Given the description of an element on the screen output the (x, y) to click on. 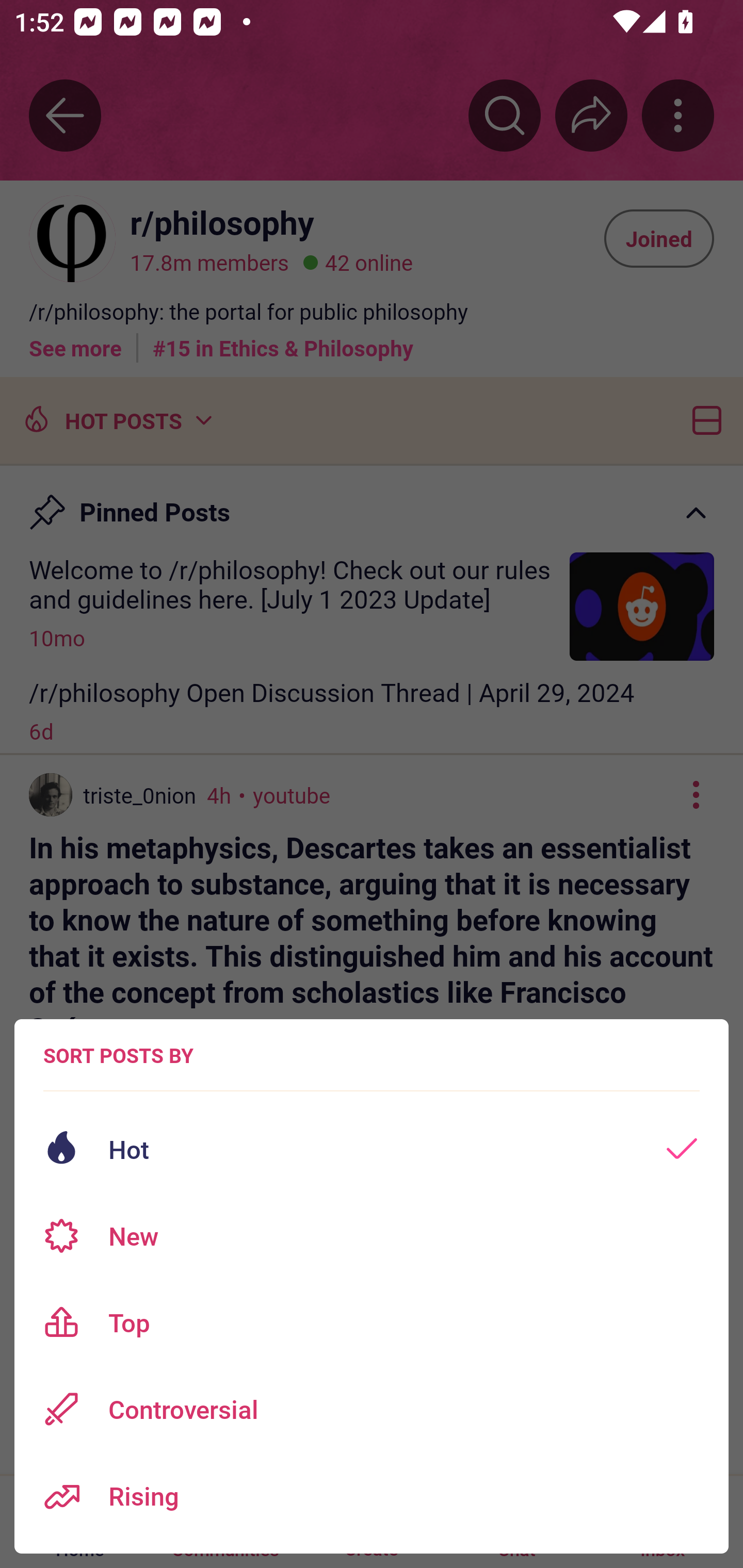
SORT POSTS BY Sort posts options (118, 1055)
Hot (371, 1149)
New (371, 1236)
Top (371, 1322)
Controversial (371, 1408)
Rising (371, 1495)
